Given the description of an element on the screen output the (x, y) to click on. 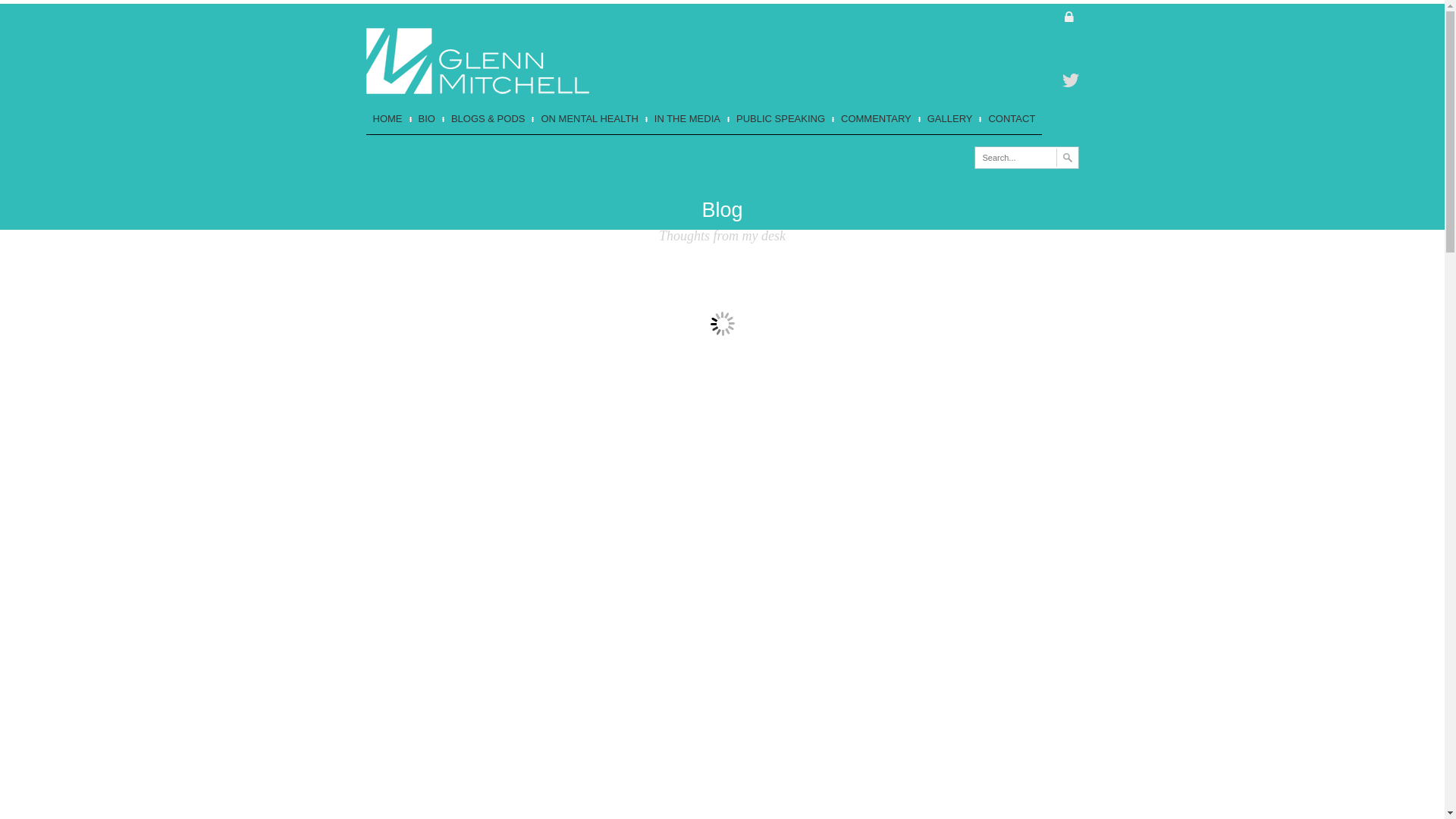
IN THE MEDIA Element type: text (686, 118)
CONTACT Element type: text (1010, 118)
COMMENTARY Element type: text (874, 118)
BLOGS & PODS Element type: text (487, 118)
GALLERY Element type: text (948, 118)
PUBLIC SPEAKING Element type: text (779, 118)
HOME Element type: text (386, 118)
ON MENTAL HEALTH Element type: text (587, 118)
BIO Element type: text (425, 118)
